Given the description of an element on the screen output the (x, y) to click on. 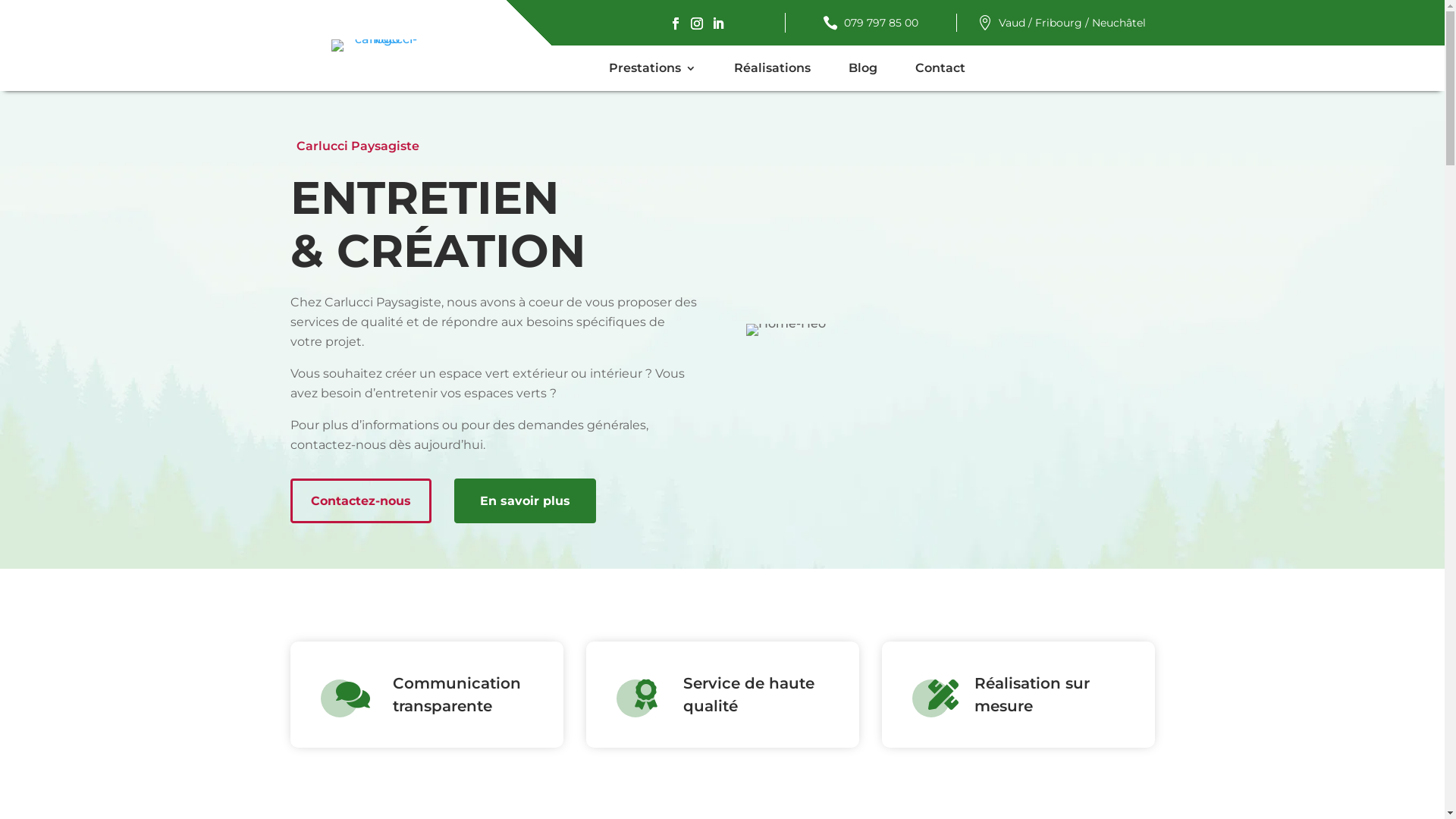
Home-Hero-1 (4) Element type: hover (785, 329)
Prestations Element type: text (652, 68)
Contactez-nous Element type: text (360, 500)
En savoir plus Element type: text (525, 500)
Suivez sur Facebook Element type: hover (675, 23)
Contact Element type: text (940, 68)
cariluccci-logo Element type: hover (380, 45)
Suivez sur LinkedIn Element type: hover (717, 23)
Blog Element type: text (862, 68)
Suivez sur Instagram Element type: hover (696, 23)
